Given the description of an element on the screen output the (x, y) to click on. 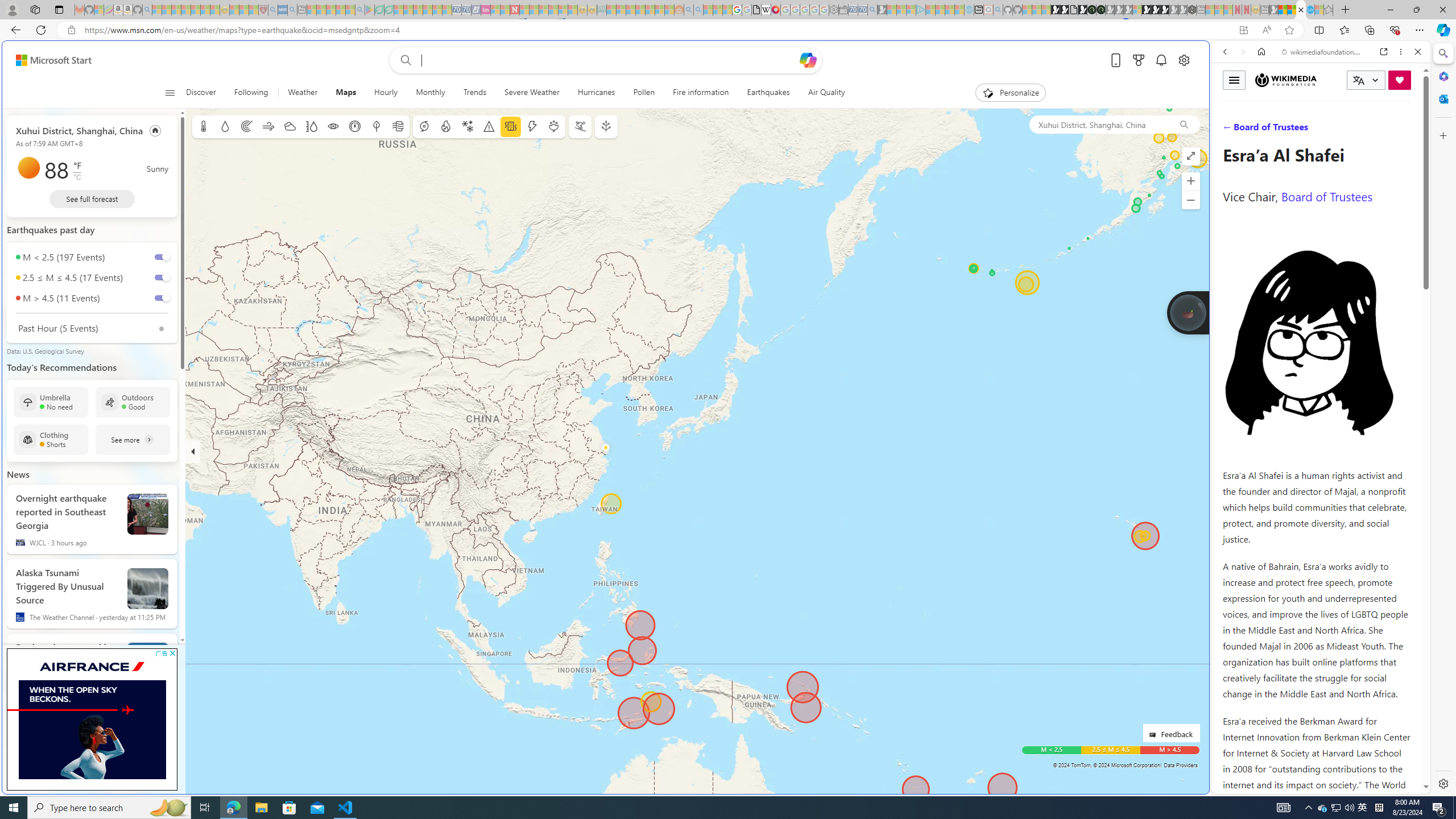
Data Providers (1180, 765)
Open link in new tab (1383, 51)
Wind (267, 126)
utah sues federal government - Search (922, 389)
Hurricanes (595, 92)
Terms of Use Agreement - Sleeping (378, 9)
Class: button-glyph (169, 92)
